Given the description of an element on the screen output the (x, y) to click on. 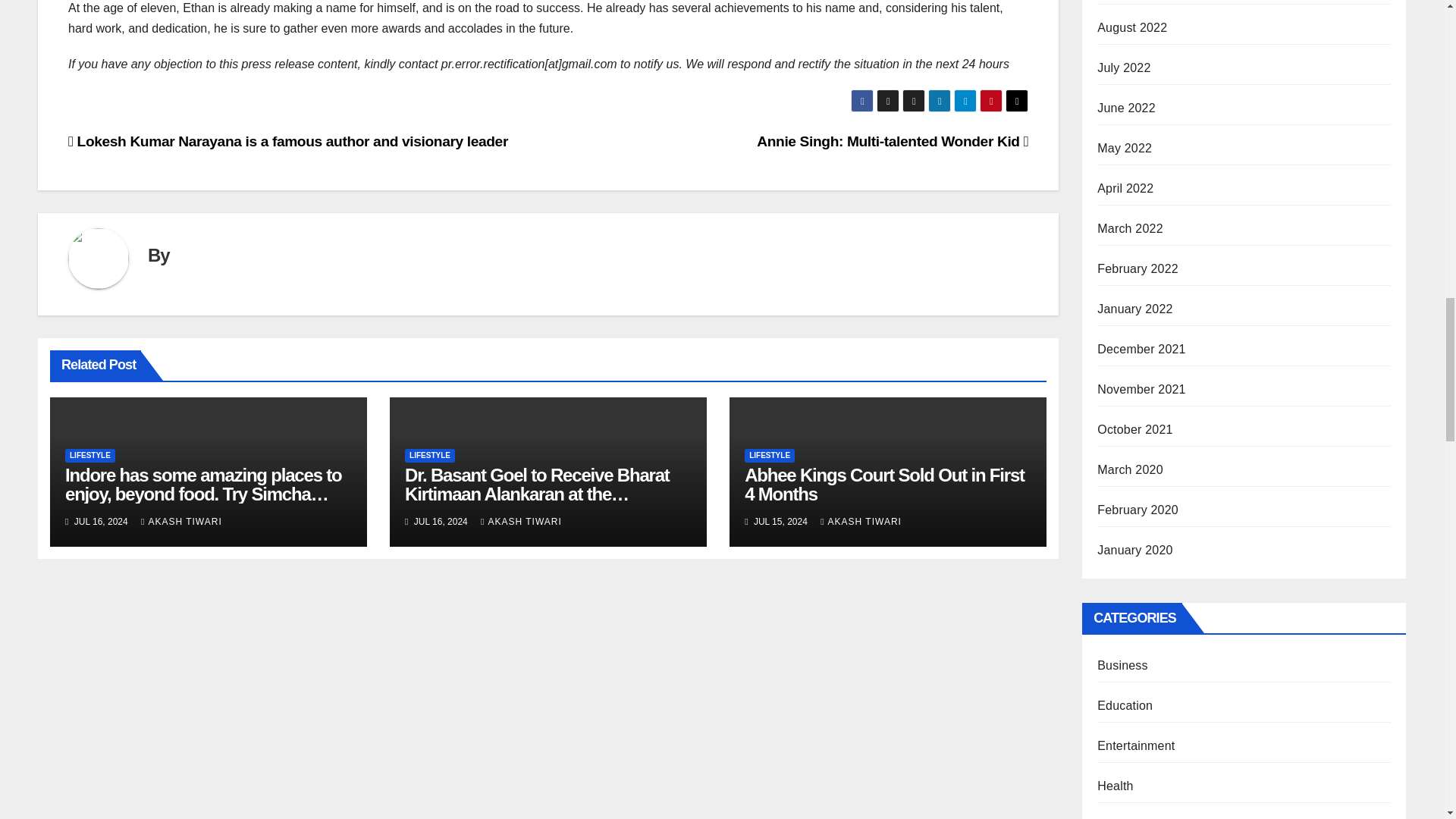
Permalink to: Abhee Kings Court Sold Out in First 4 Months (884, 484)
LIFESTYLE (90, 455)
LIFESTYLE (429, 455)
AKASH TIWARI (181, 521)
Annie Singh: Multi-talented Wonder Kid (892, 141)
